Given the description of an element on the screen output the (x, y) to click on. 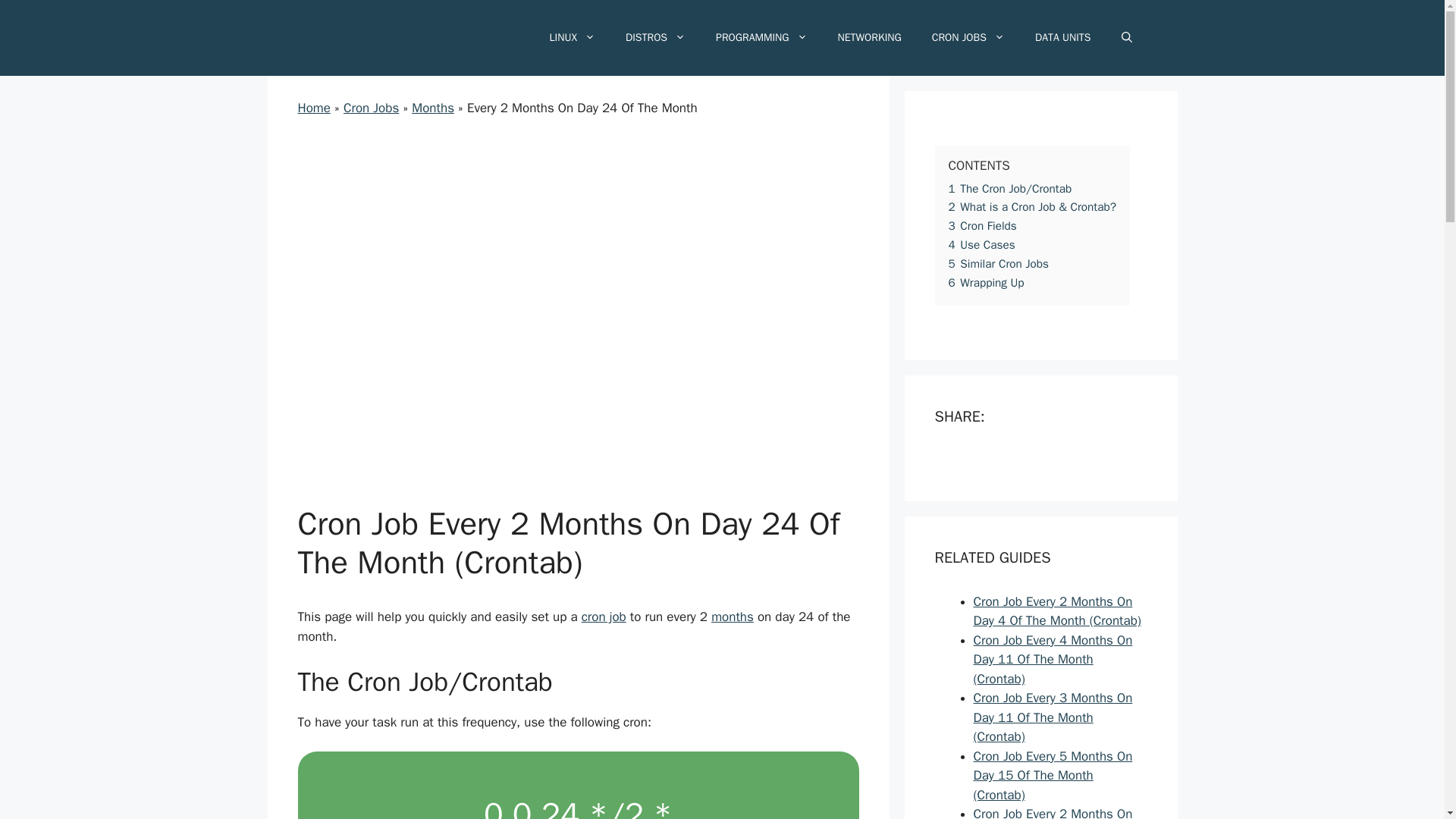
PROGRAMMING (761, 37)
Go to Cron Jobs. (370, 107)
DATA UNITS (1063, 37)
LINUX (572, 37)
DISTROS (655, 37)
cron job (603, 616)
Go to Months. (433, 107)
Home (313, 107)
Months (433, 107)
NETWORKING (869, 37)
